Given the description of an element on the screen output the (x, y) to click on. 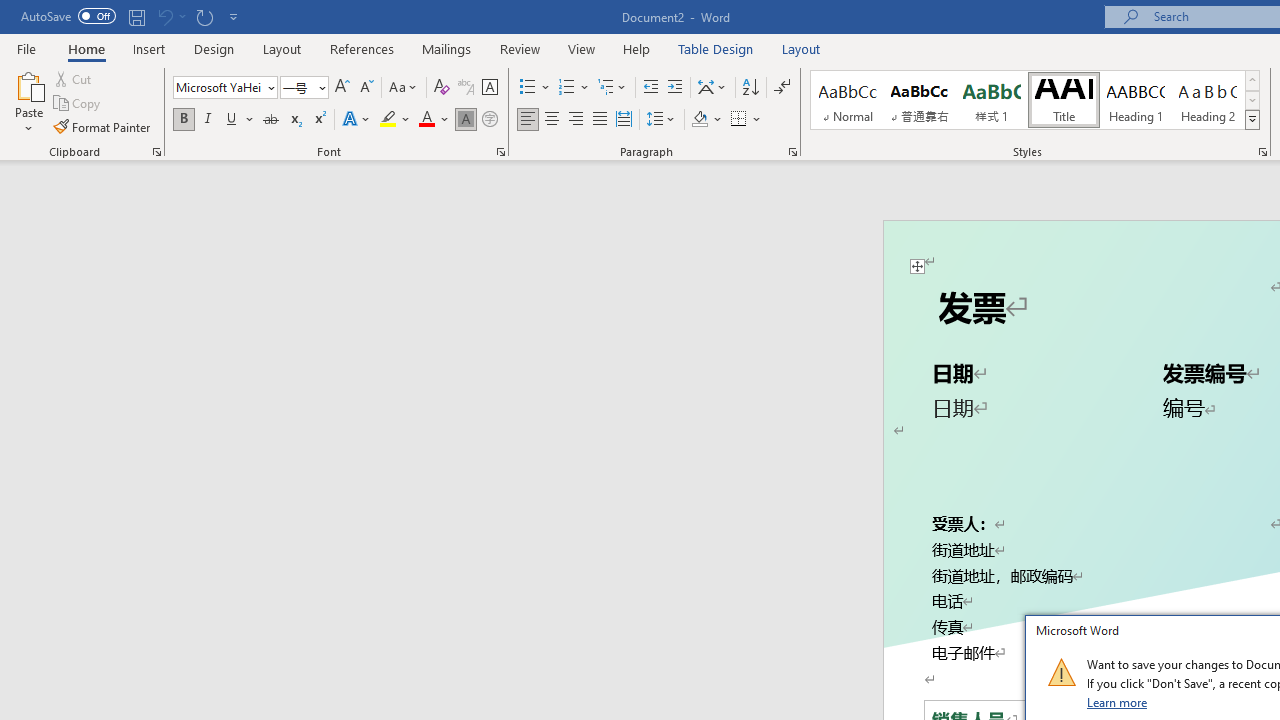
Quick Access Toolbar (131, 16)
Class: NetUIImage (1061, 671)
Styles... (1262, 151)
Row up (1252, 79)
Character Border (489, 87)
Review (520, 48)
Row Down (1252, 100)
More Options (757, 119)
Show/Hide Editing Marks (781, 87)
Font (218, 87)
AutoSave (68, 16)
Sort... (750, 87)
Italic (207, 119)
Enclose Characters... (489, 119)
